Given the description of an element on the screen output the (x, y) to click on. 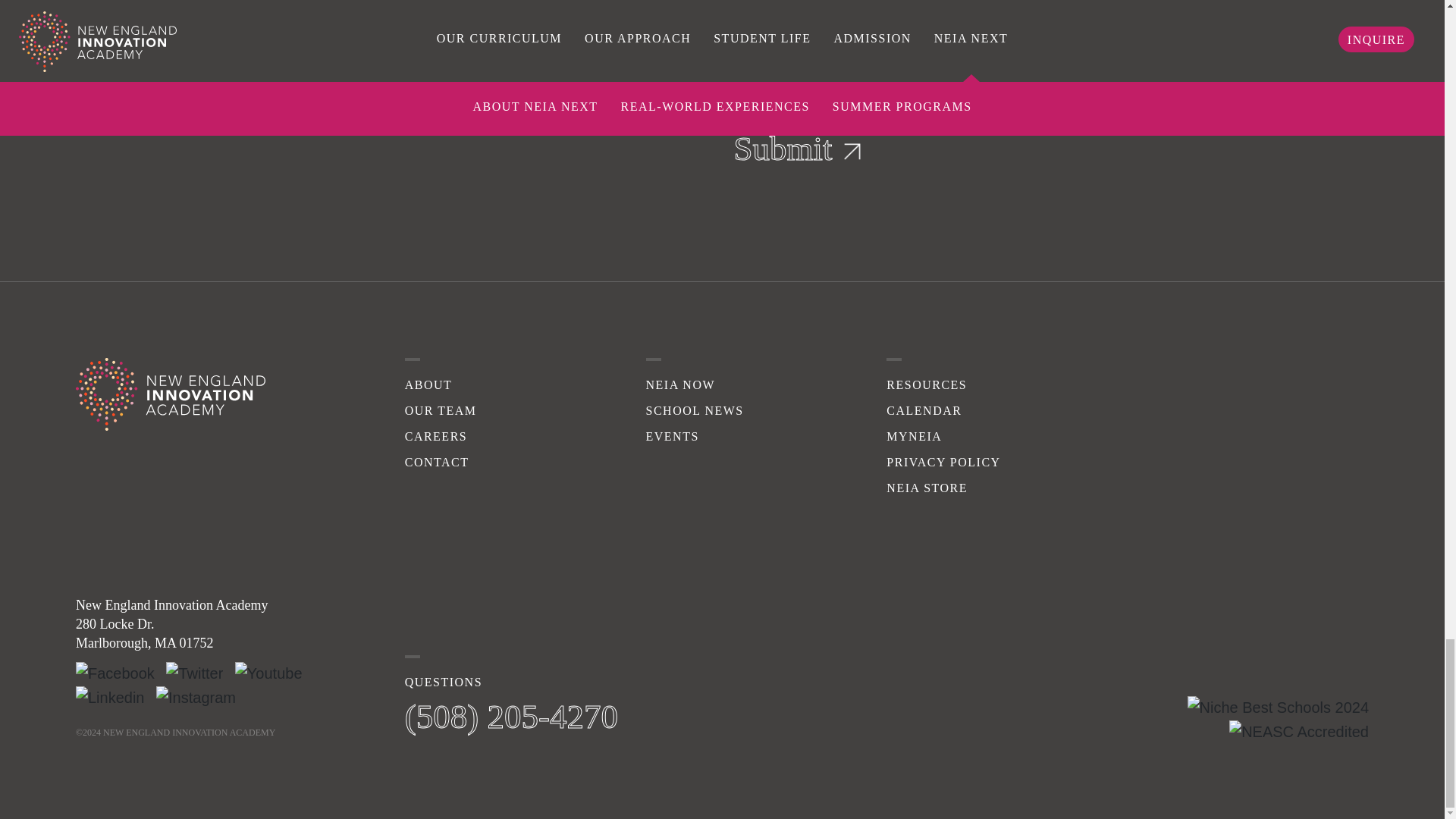
Email NEIA Academy (510, 716)
